Given the description of an element on the screen output the (x, y) to click on. 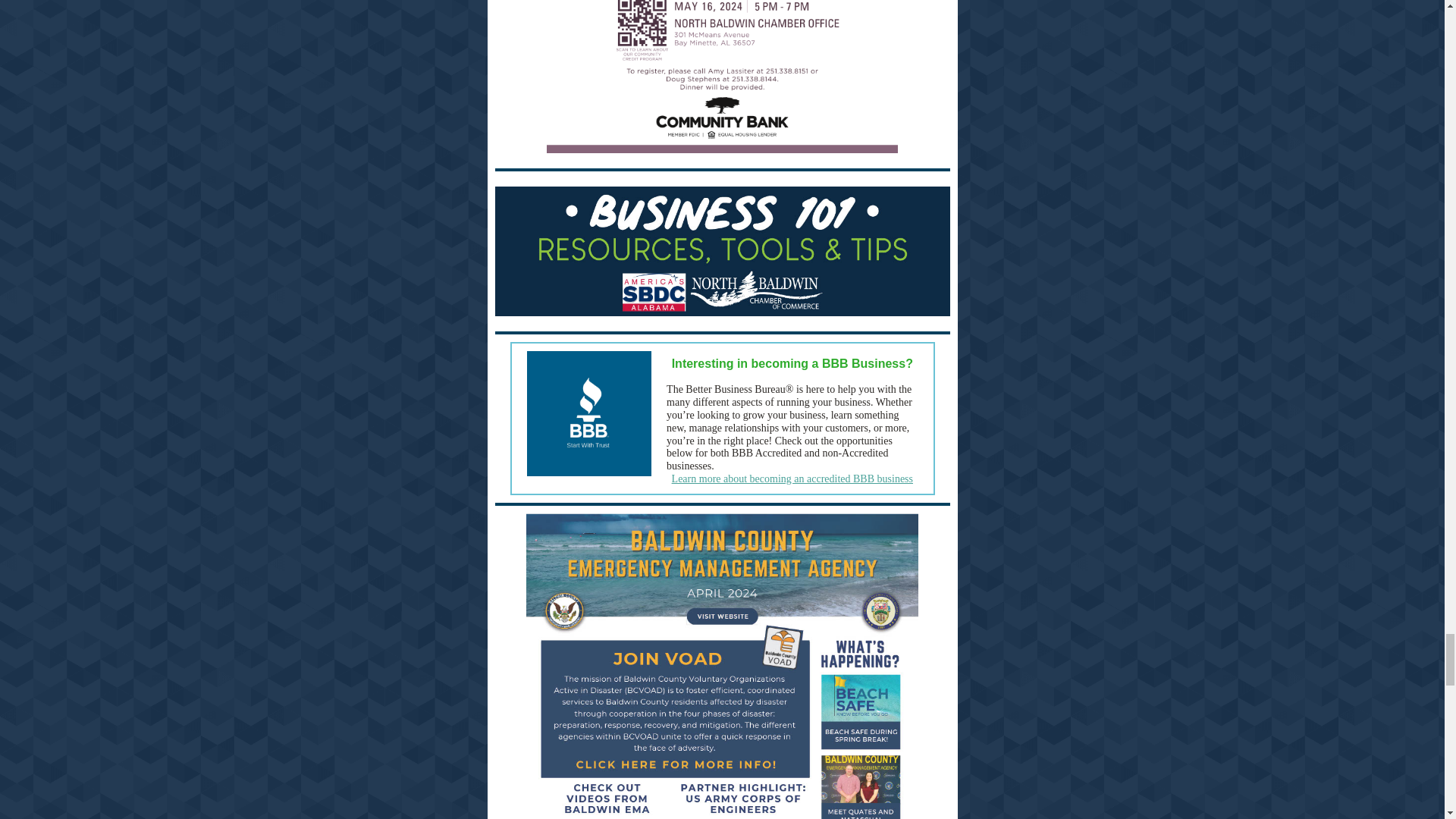
Learn more about becoming an accredited BBB business (791, 478)
